Given the description of an element on the screen output the (x, y) to click on. 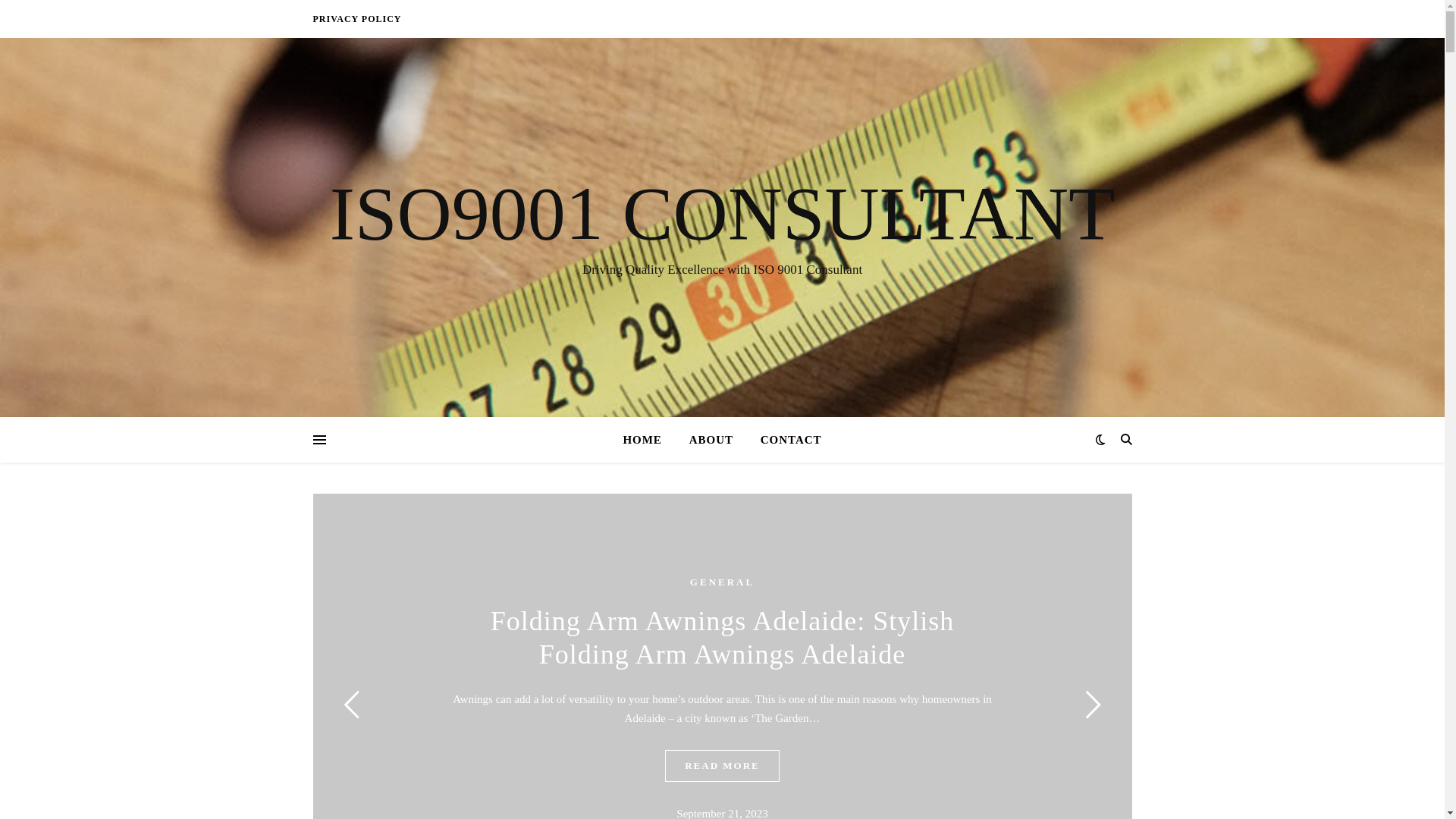
HOME Element type: text (648, 439)
GENERAL Element type: text (722, 581)
CONTACT Element type: text (785, 439)
ABOUT Element type: text (711, 439)
PRIVACY POLICY Element type: text (356, 18)
ISO9001 CONSULTANT Element type: text (722, 213)
READ MORE Element type: text (722, 765)
